Given the description of an element on the screen output the (x, y) to click on. 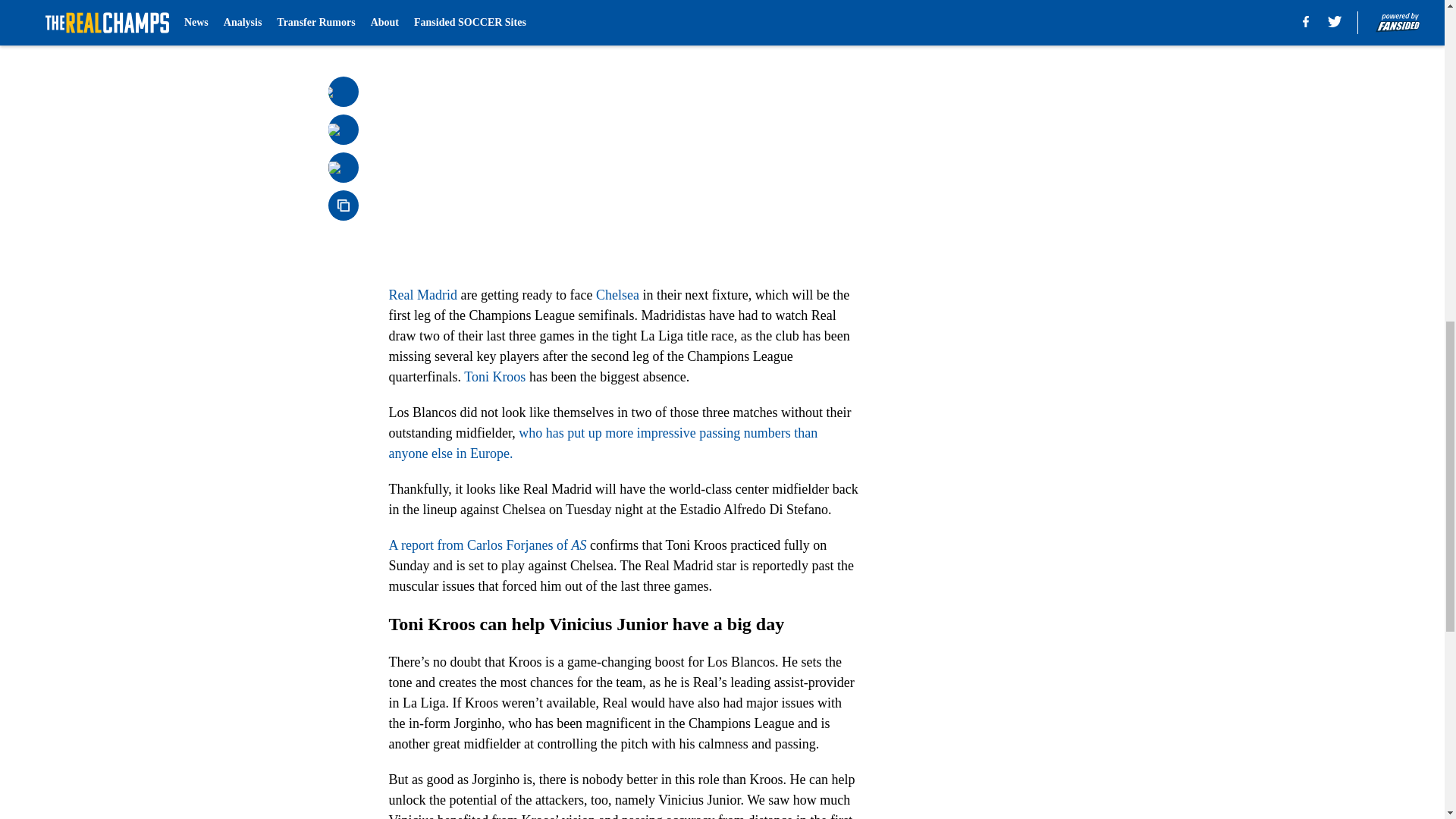
Chelsea (617, 294)
Toni Kroos (494, 376)
A report from Carlos Forjanes of AS (487, 544)
Real Madrid (422, 294)
